Given the description of an element on the screen output the (x, y) to click on. 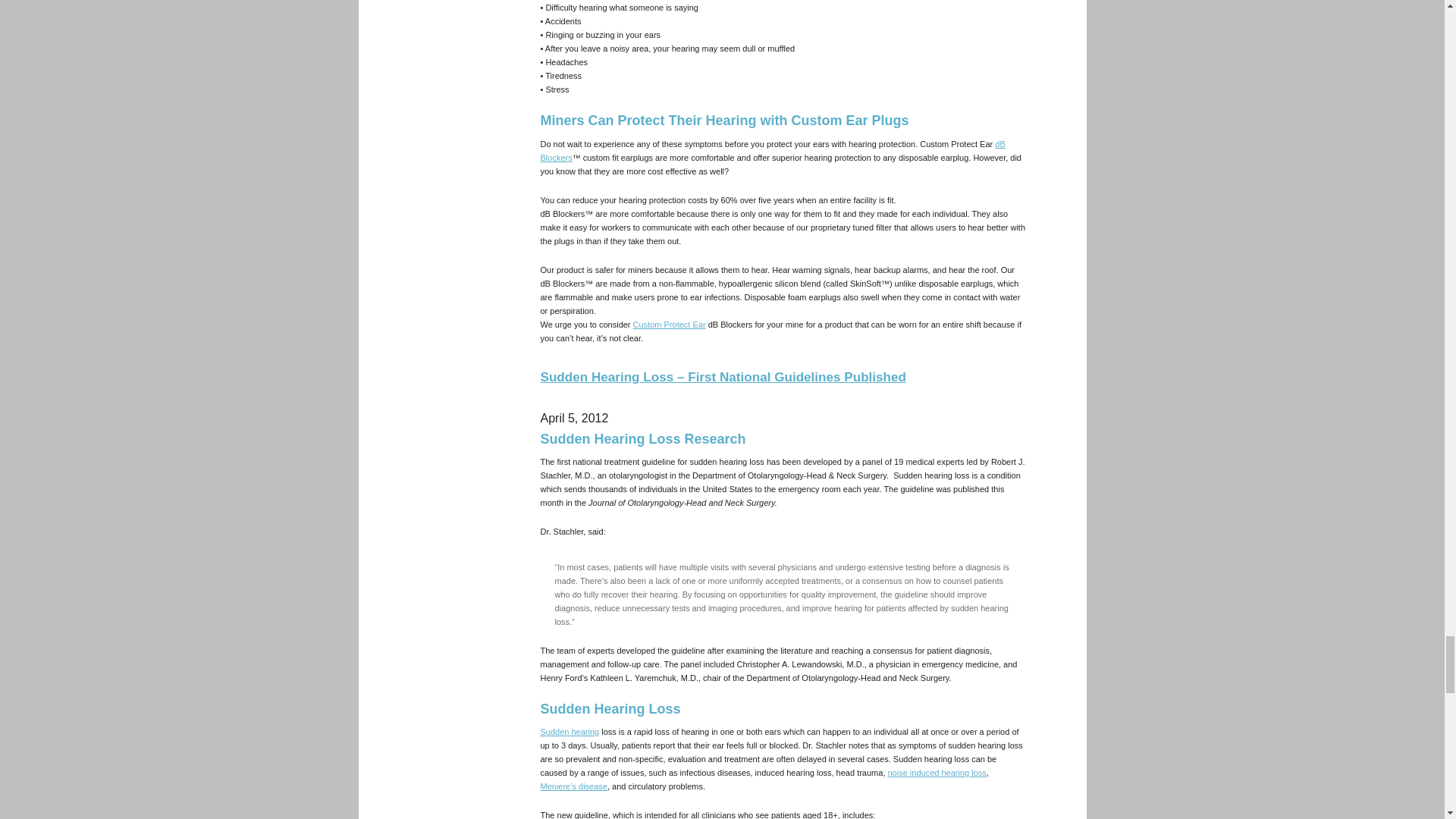
Custom Protect Ear (669, 324)
db Blockers (772, 150)
